Given the description of an element on the screen output the (x, y) to click on. 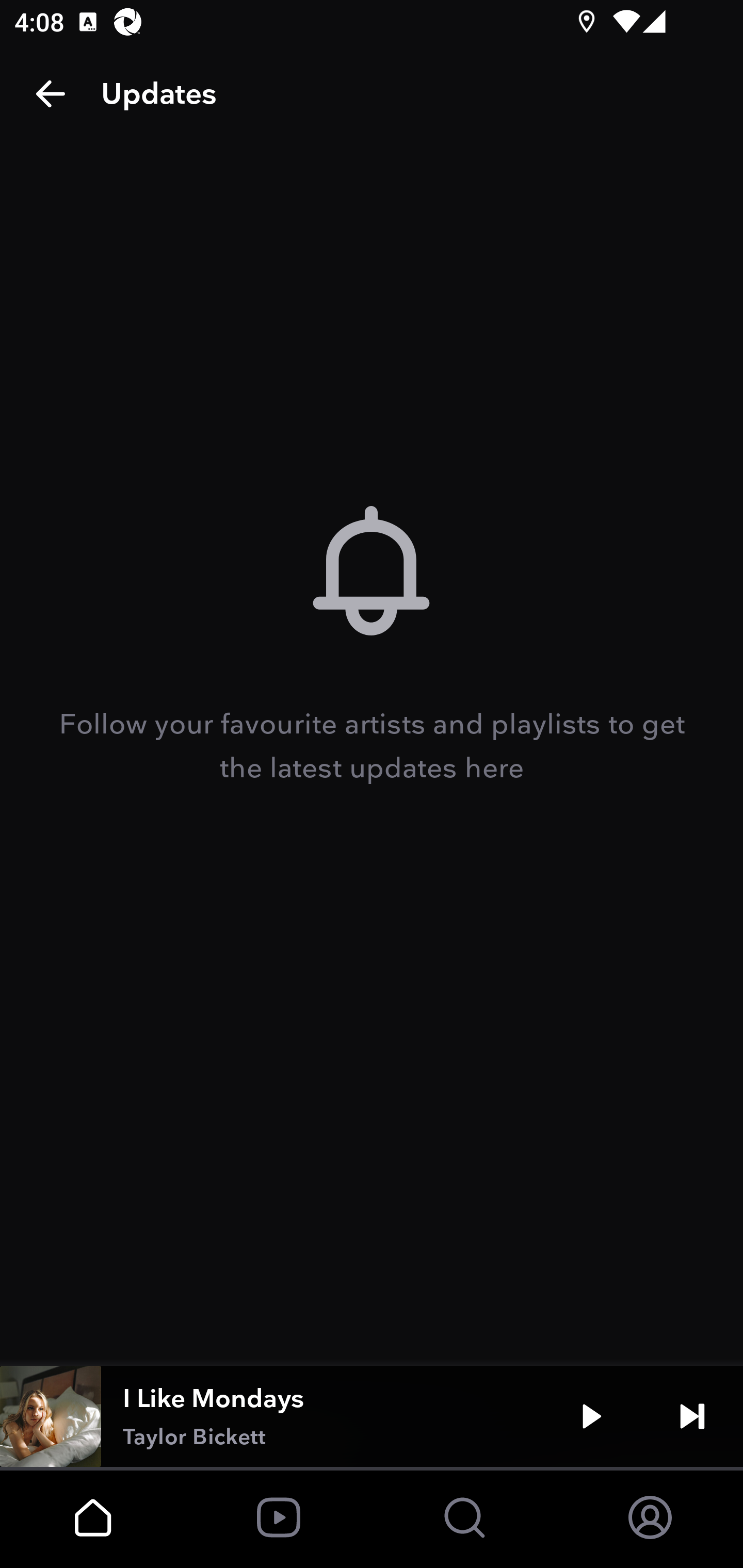
I Like Mondays Taylor Bickett Play (371, 1416)
Play (590, 1416)
